Given the description of an element on the screen output the (x, y) to click on. 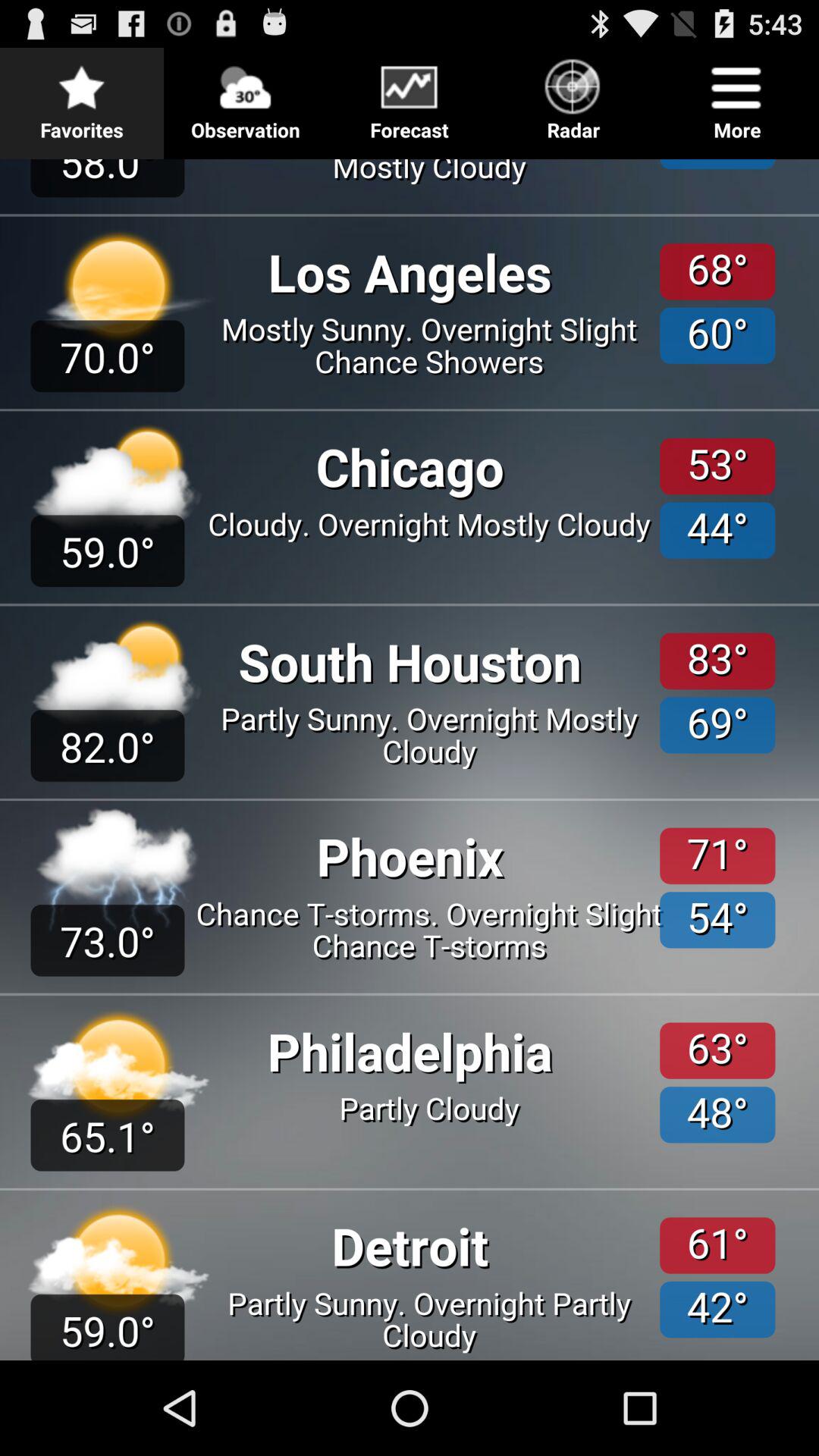
get the forecast (409, 753)
